Given the description of an element on the screen output the (x, y) to click on. 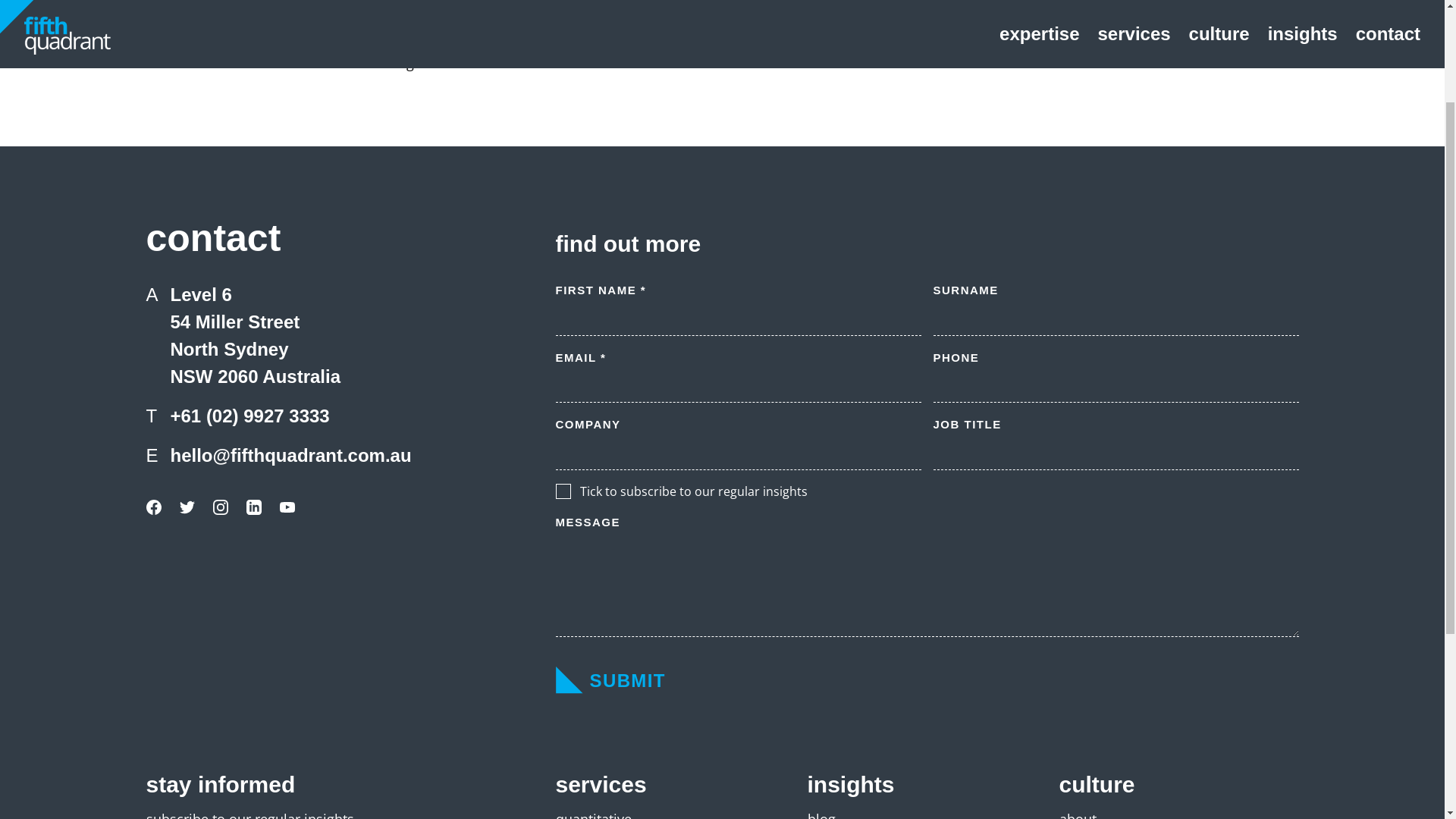
Level 6
54 Miller Street
North Sydney
NSW 2060 Australia Element type: text (254, 476)
+61 (02) 9927 3333 Element type: text (249, 556)
culture Element type: text (1219, 175)
insights Element type: text (1302, 175)
services Element type: text (1134, 175)
expertise Element type: text (1039, 175)
hello@fifthquadrant.com.au Element type: text (290, 596)
contact Element type: text (1387, 175)
